Given the description of an element on the screen output the (x, y) to click on. 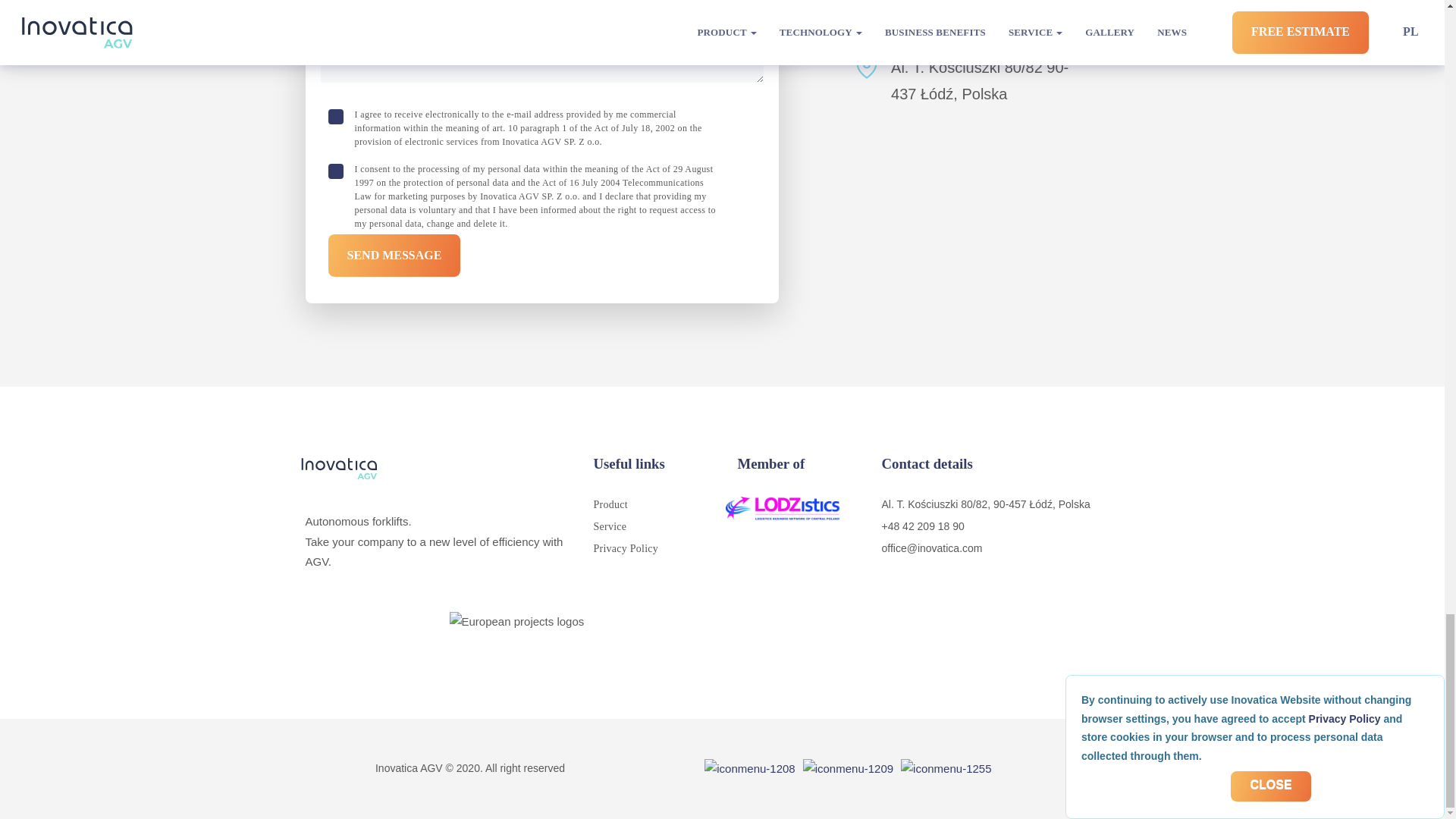
Privacy Policy (625, 548)
Inovatica AGV on Facebook (749, 768)
Service (609, 526)
SEND MESSAGE (393, 255)
European projects logos (721, 642)
Inovatica AGV on LinkedIn (848, 768)
Logo of lodzistic (782, 508)
Product (609, 504)
Inovatica AGV on Youtube (946, 768)
